Given the description of an element on the screen output the (x, y) to click on. 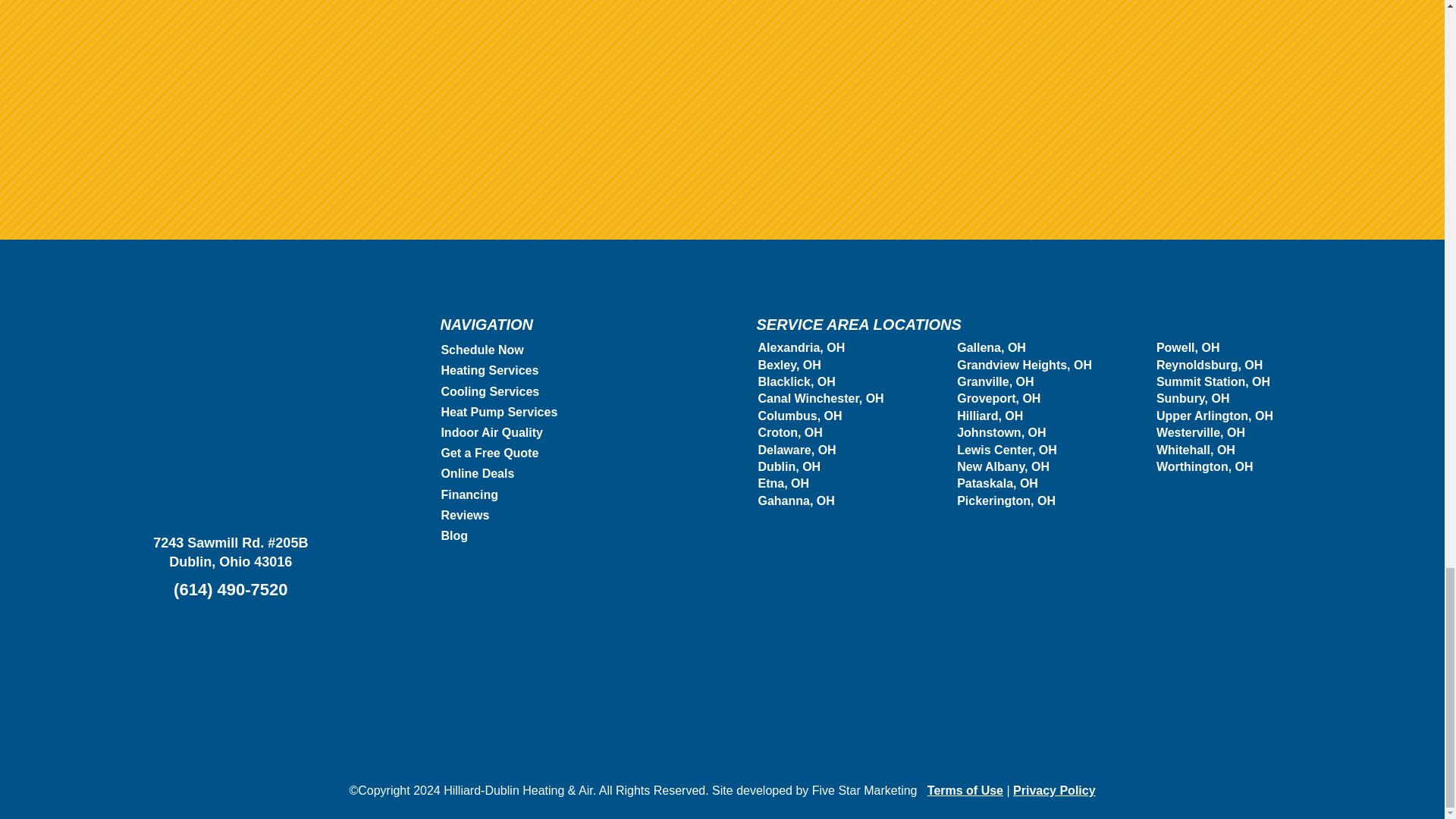
Indoor Air Quality (492, 431)
Heat Pump Services (499, 411)
Cooling Services (489, 391)
Schedule Now (481, 349)
Heating Services (489, 369)
Get a Free Quote (489, 452)
